Given the description of an element on the screen output the (x, y) to click on. 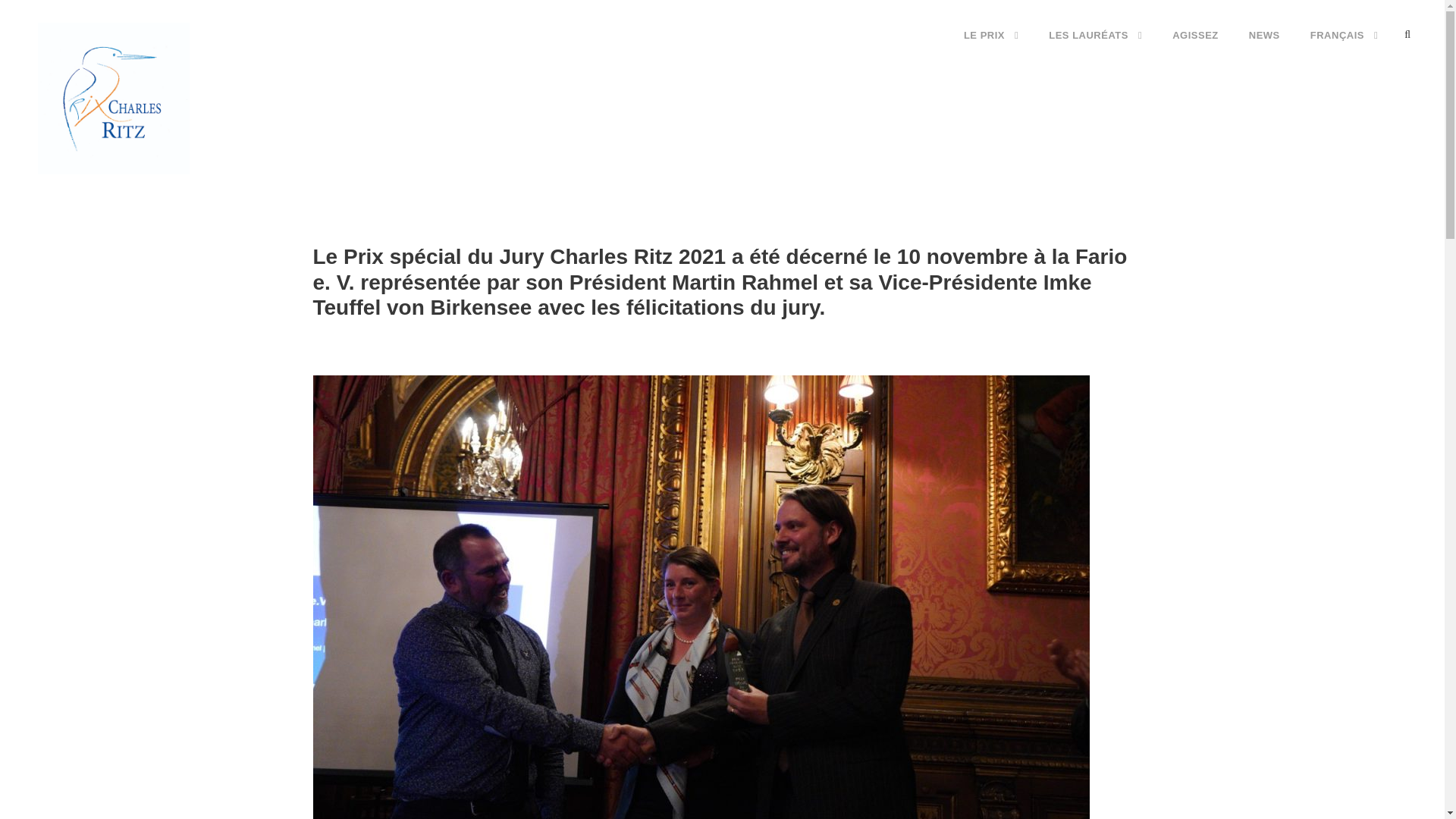
AGISSEZ (1195, 48)
NEWS (1264, 48)
Les candidatures 2022 sont ouvertes ! (716, 275)
LE PRIX (990, 48)
